Given the description of an element on the screen output the (x, y) to click on. 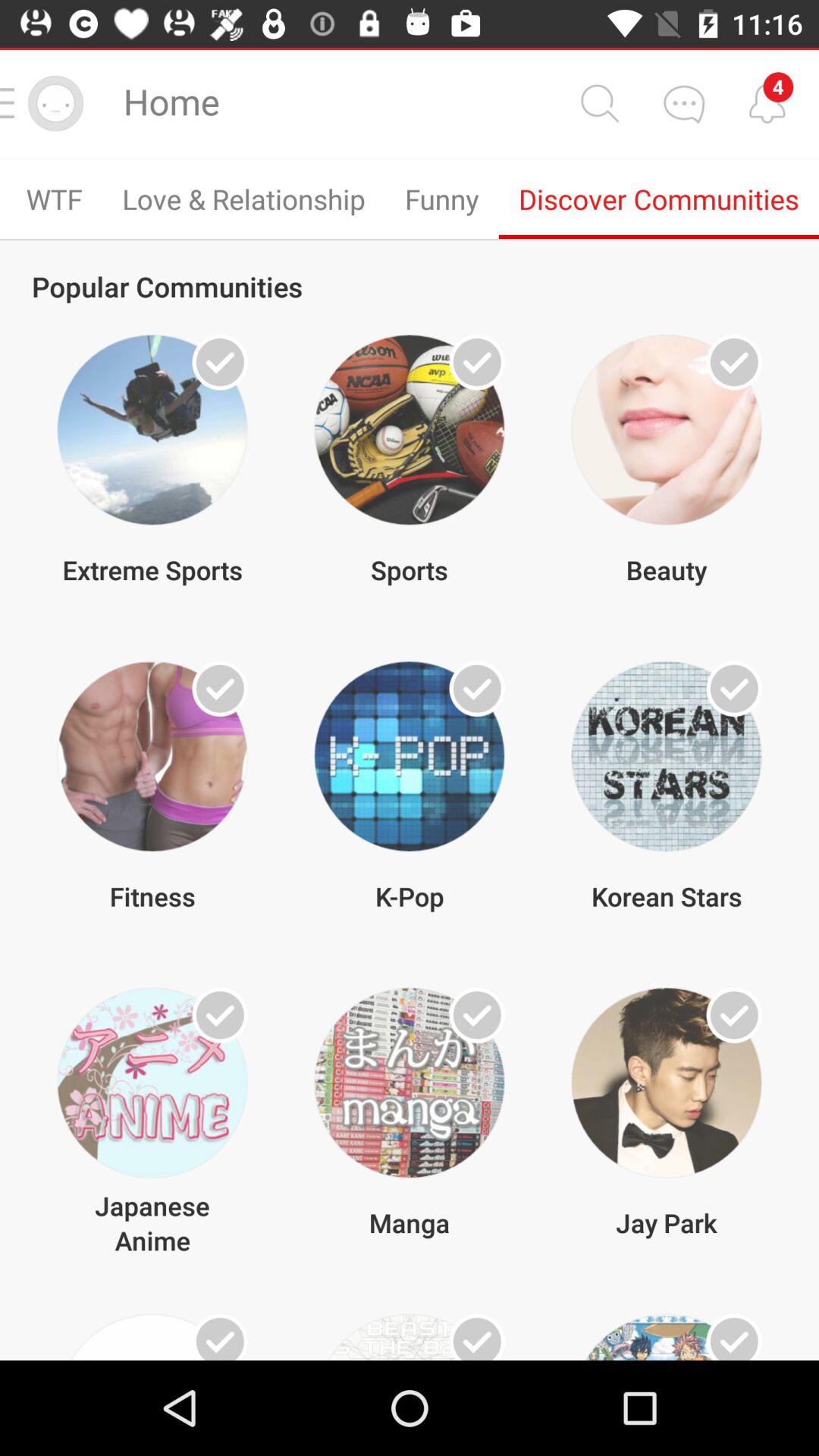
join this community (219, 362)
